Given the description of an element on the screen output the (x, y) to click on. 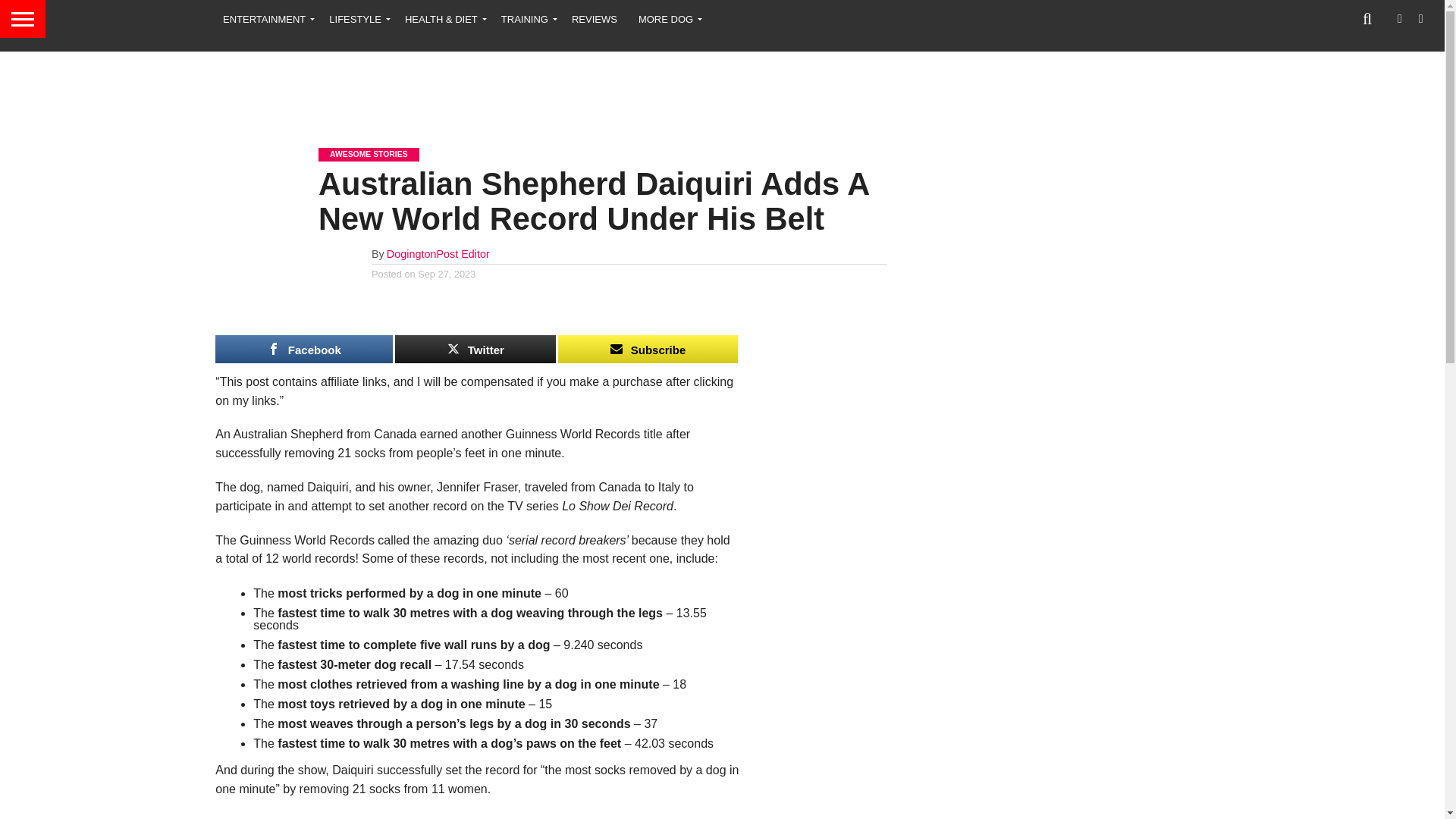
Posts by DogingtonPost Editor (438, 254)
